Given the description of an element on the screen output the (x, y) to click on. 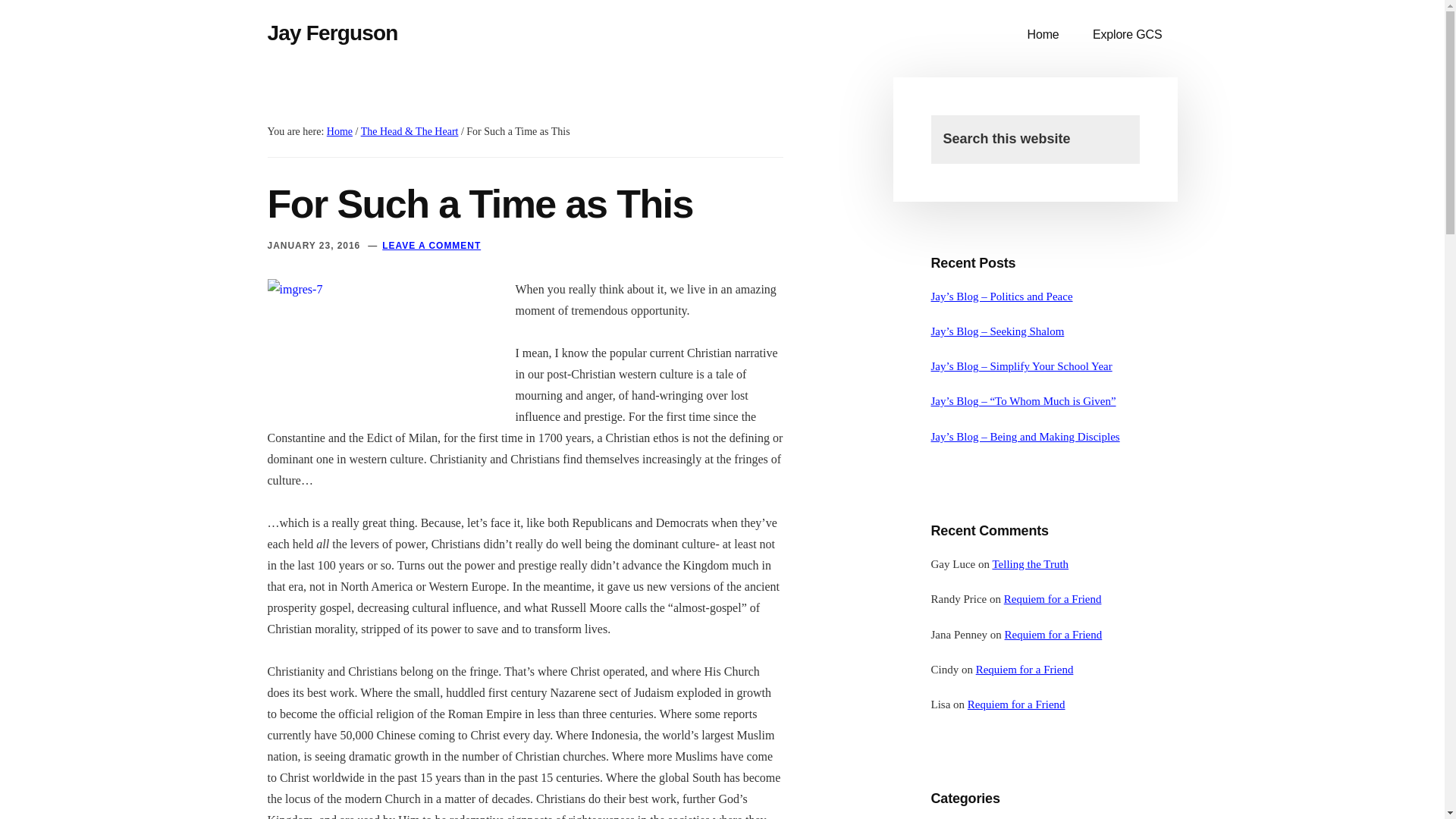
LEAVE A COMMENT (430, 244)
Home (339, 131)
Telling the Truth (1029, 563)
Explore GCS (1127, 34)
Requiem for a Friend (1053, 633)
Requiem for a Friend (1016, 704)
Home (1042, 34)
Requiem for a Friend (1024, 669)
Jay Ferguson (331, 33)
